Given the description of an element on the screen output the (x, y) to click on. 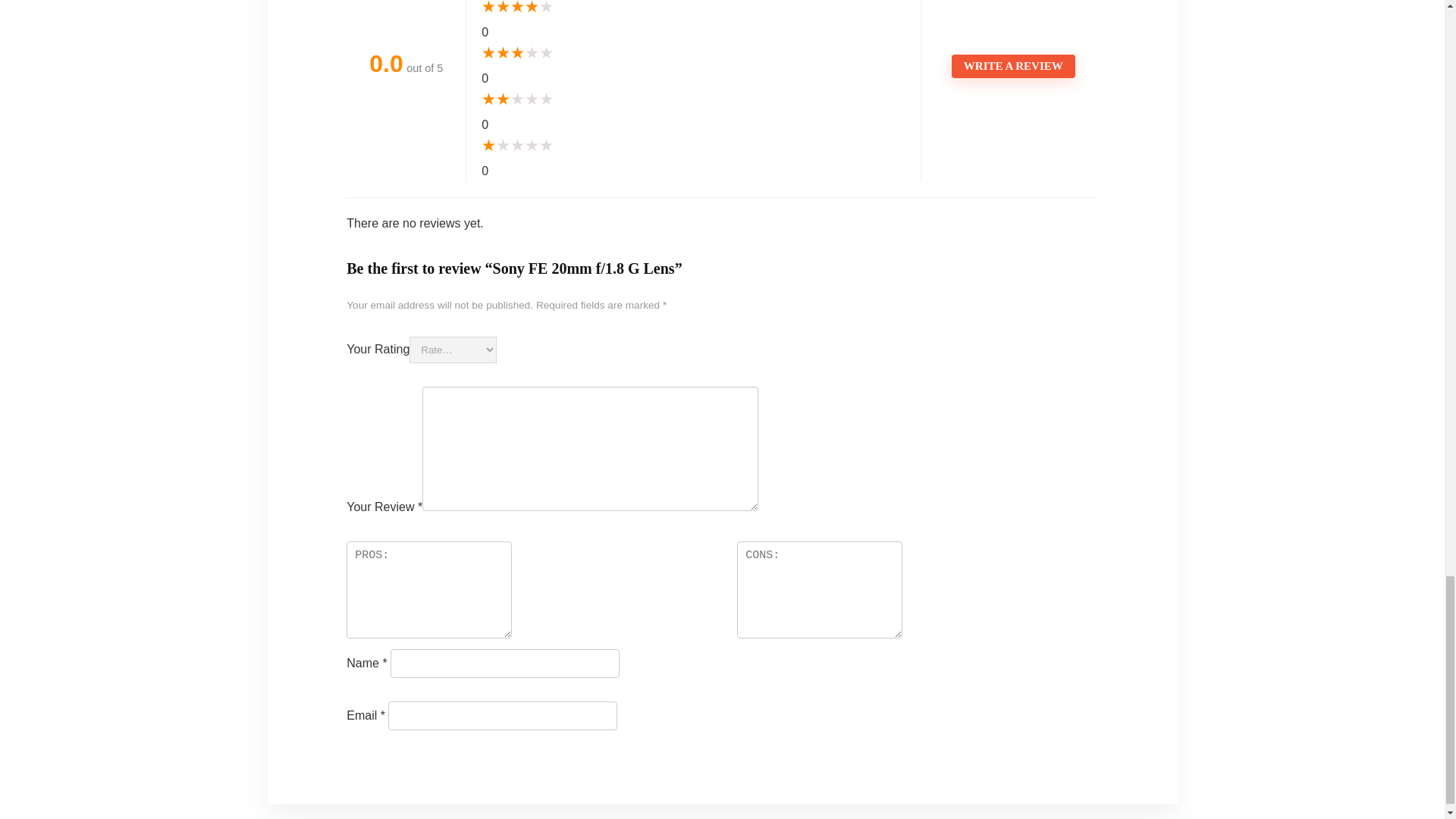
Rated 3 out of 5 (693, 53)
Rated 1 out of 5 (693, 146)
WRITE A REVIEW (1013, 65)
Rated 4 out of 5 (693, 9)
Rated 2 out of 5 (693, 99)
